Given the description of an element on the screen output the (x, y) to click on. 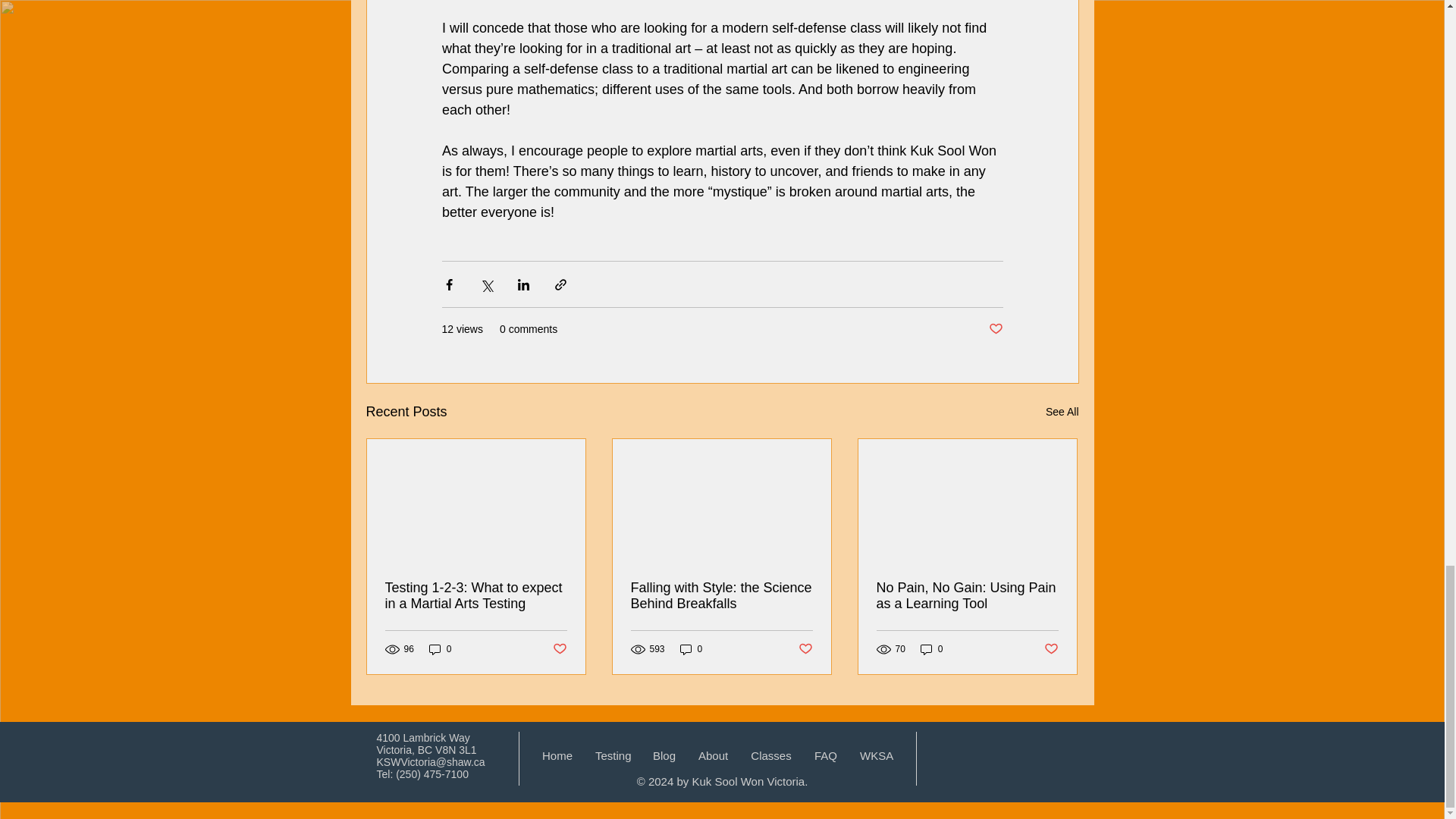
About (713, 755)
0 (931, 649)
Post not marked as liked (995, 329)
Post not marked as liked (558, 648)
Falling with Style: the Science Behind Breakfalls (721, 595)
Testing (612, 755)
Classes (771, 755)
0 (691, 649)
See All (1061, 412)
0 (440, 649)
